Given the description of an element on the screen output the (x, y) to click on. 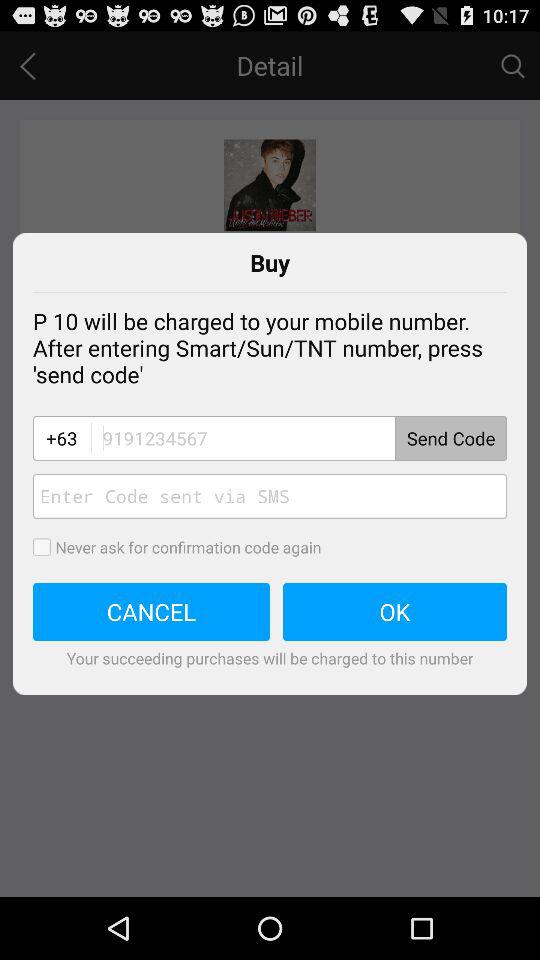
tap icon next to ok icon (151, 611)
